Given the description of an element on the screen output the (x, y) to click on. 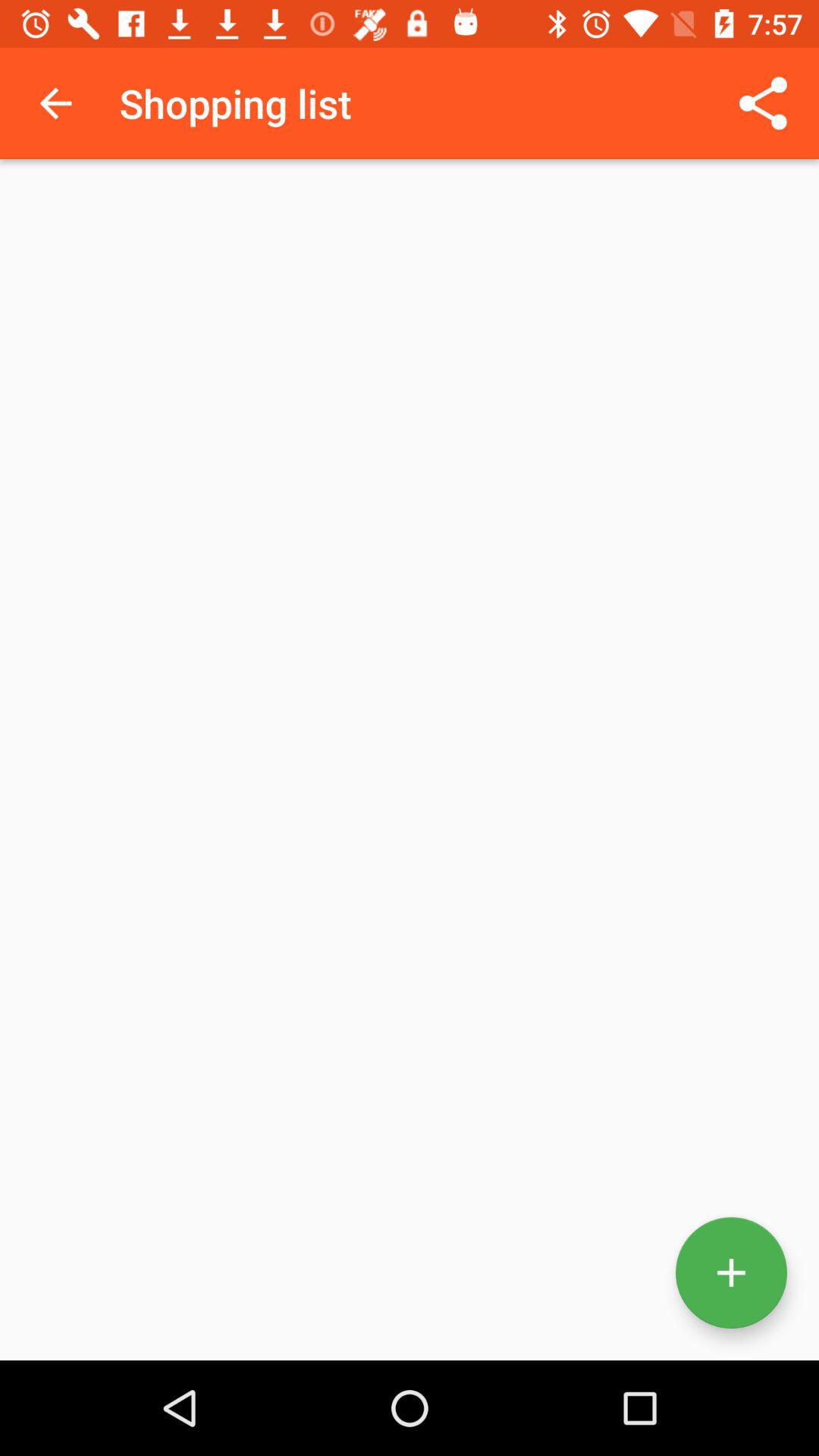
add new item (731, 1272)
